Given the description of an element on the screen output the (x, y) to click on. 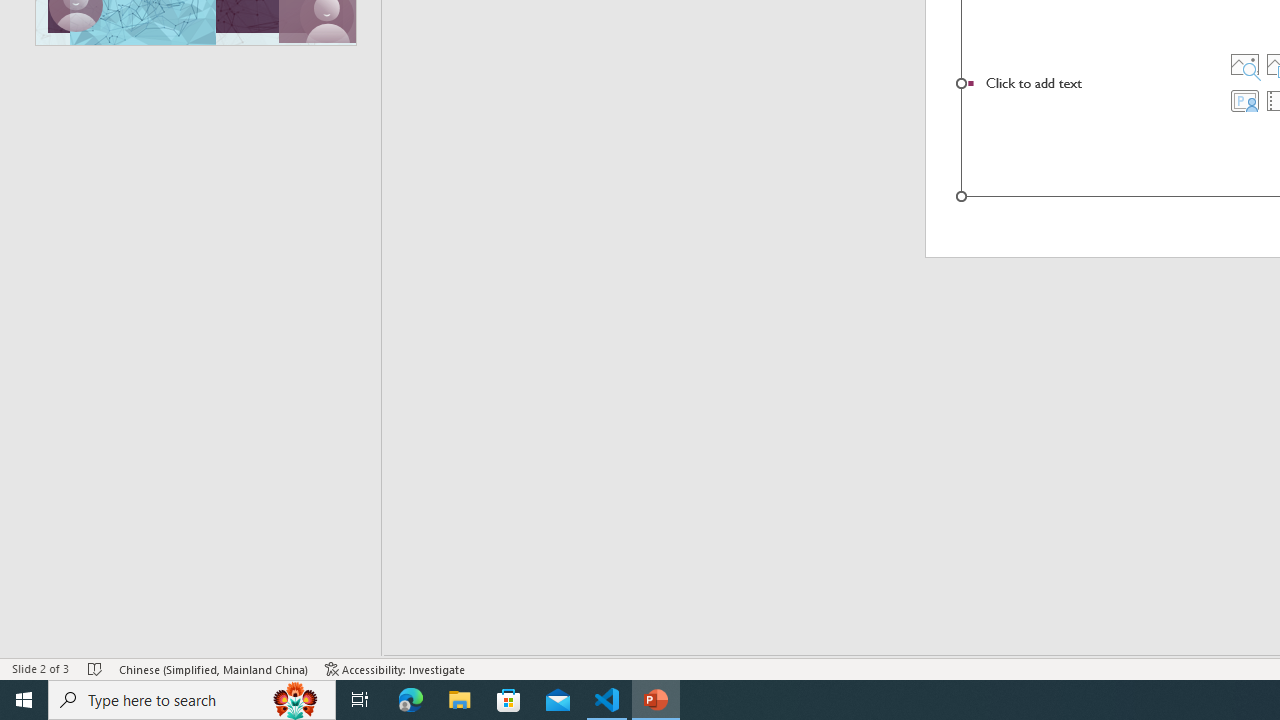
Stock Images (1244, 64)
Insert Cameo (1244, 100)
